Given the description of an element on the screen output the (x, y) to click on. 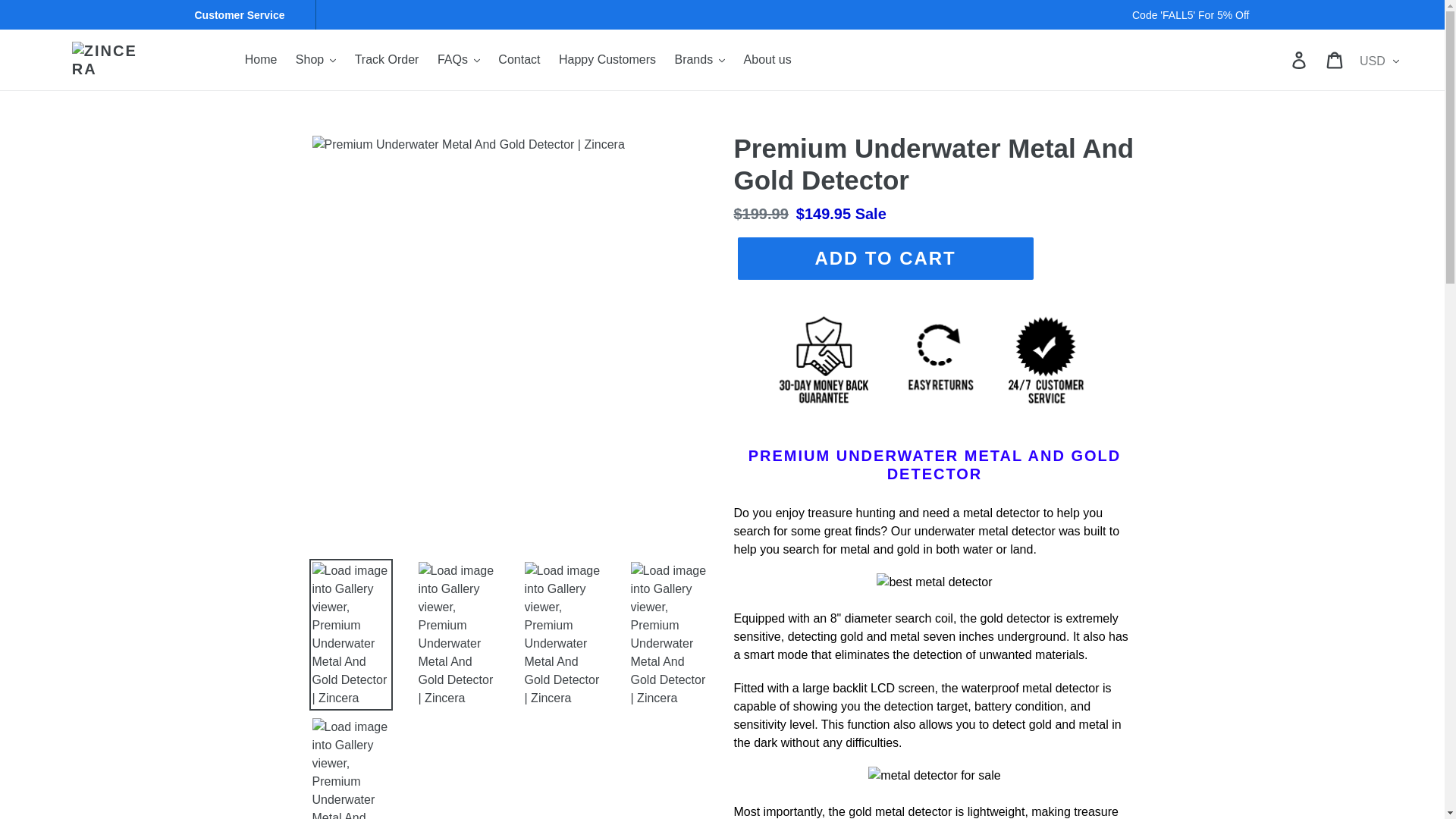
Customer Service (245, 15)
Zincera is secured by Shopify (934, 418)
Contact (518, 59)
Happy Customers (607, 59)
Track Order (386, 59)
Home (261, 59)
